Given the description of an element on the screen output the (x, y) to click on. 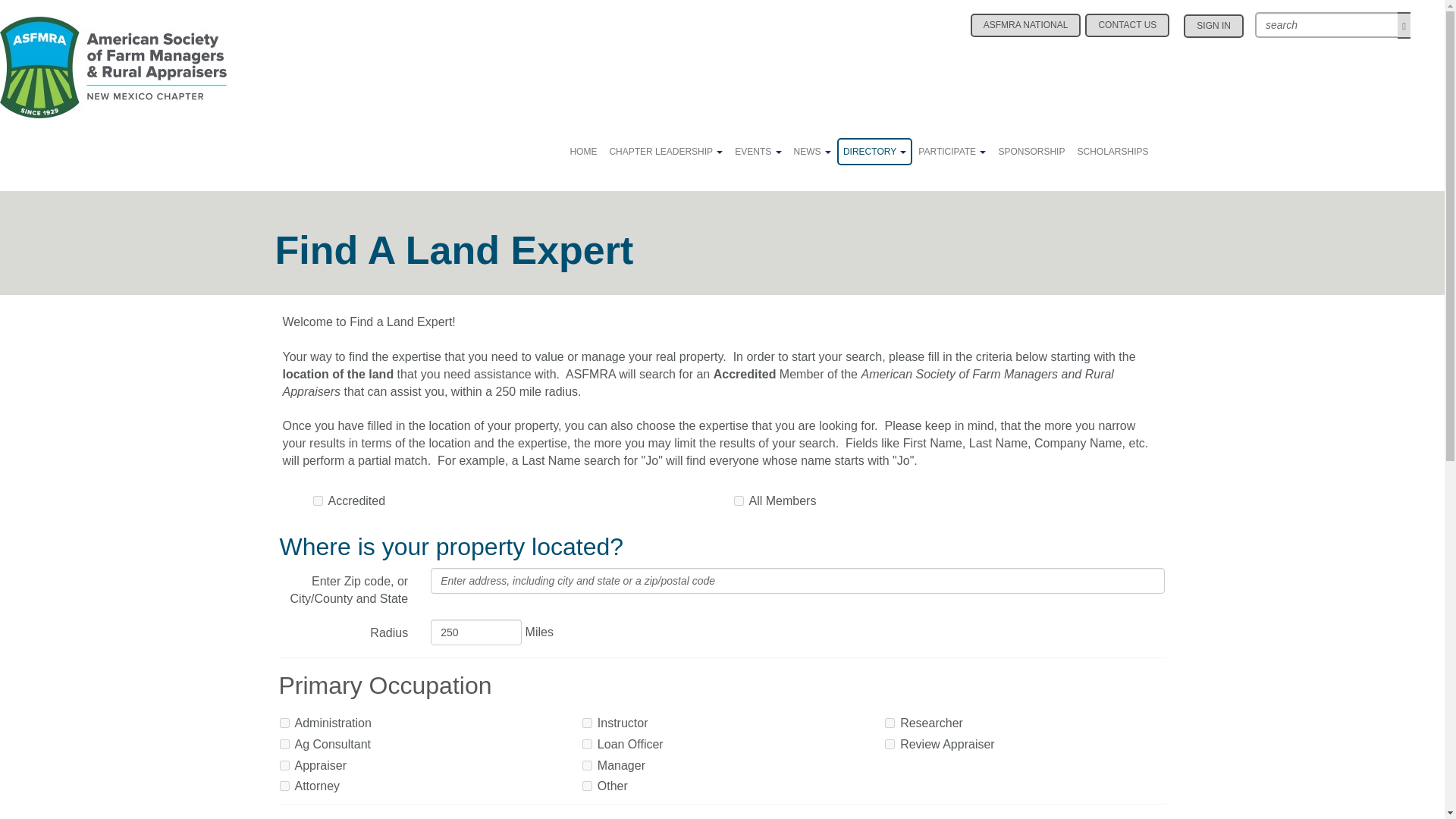
ee361d66-293a-4690-a0ff-8762d2cde980 (587, 786)
PARTICIPATE (951, 151)
HOME (582, 151)
Administration (283, 723)
How to get in contact with us (1126, 24)
Loan Officer (587, 744)
Appraiser (283, 765)
SPONSORSHIP (1030, 151)
d4afbb49-b6b6-4606-9ba3-3265cddf81de (283, 765)
5a3a72fa-5846-4165-97ad-8eb5d79ff136 (283, 786)
Read the code of conduct for posting to the lists (1026, 24)
Manager (587, 765)
b2db6e9a-cf72-4efd-bd3c-3dc968092ba8 (587, 723)
DIRECTORY (874, 151)
12620874-3306-4511-9768-9b03f4109a2a (283, 744)
